Given the description of an element on the screen output the (x, y) to click on. 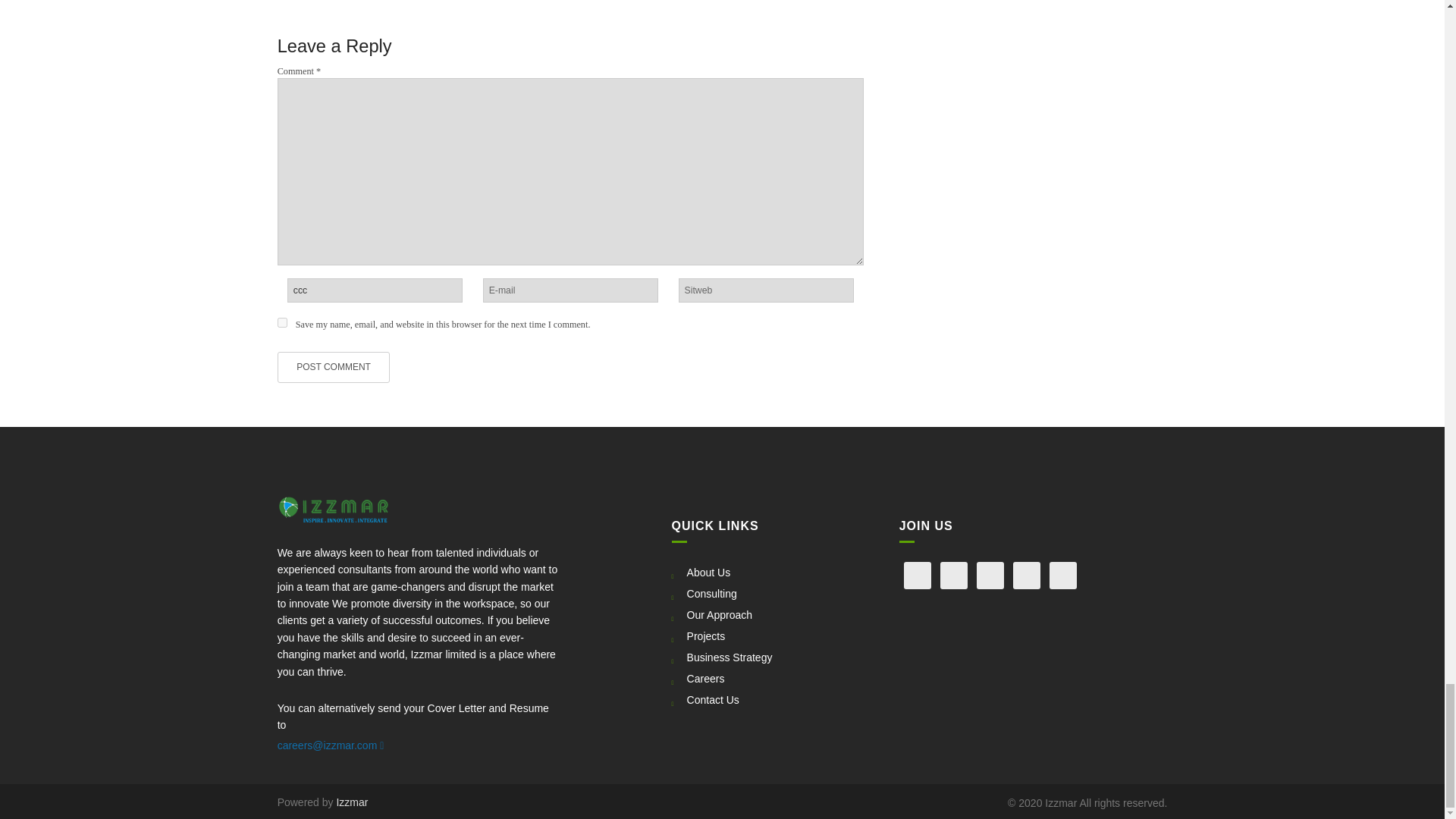
ccc (374, 290)
yes (282, 322)
Post Comment (334, 367)
Post Comment (334, 367)
